Given the description of an element on the screen output the (x, y) to click on. 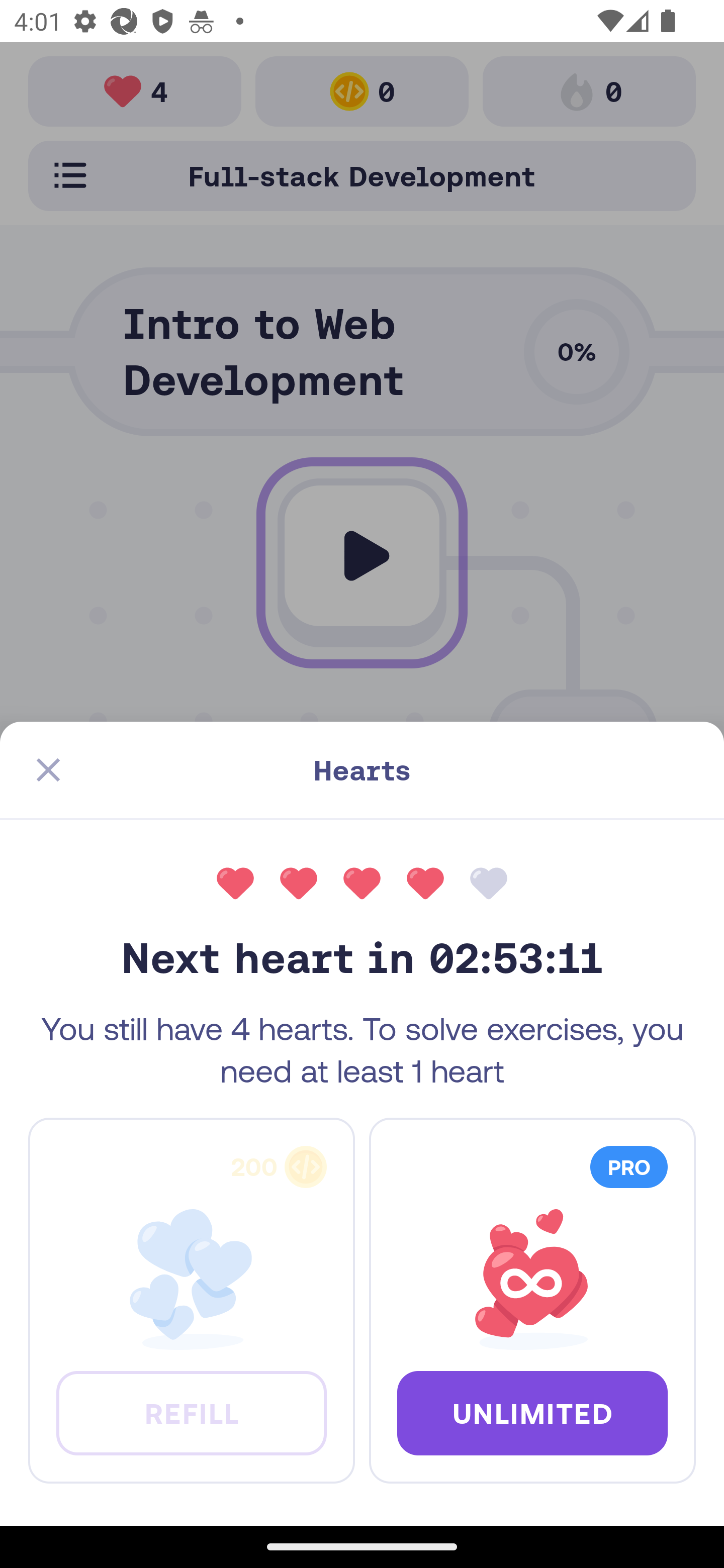
Close (47, 769)
REFILL (191, 1412)
UNLIMITED (532, 1412)
